Given the description of an element on the screen output the (x, y) to click on. 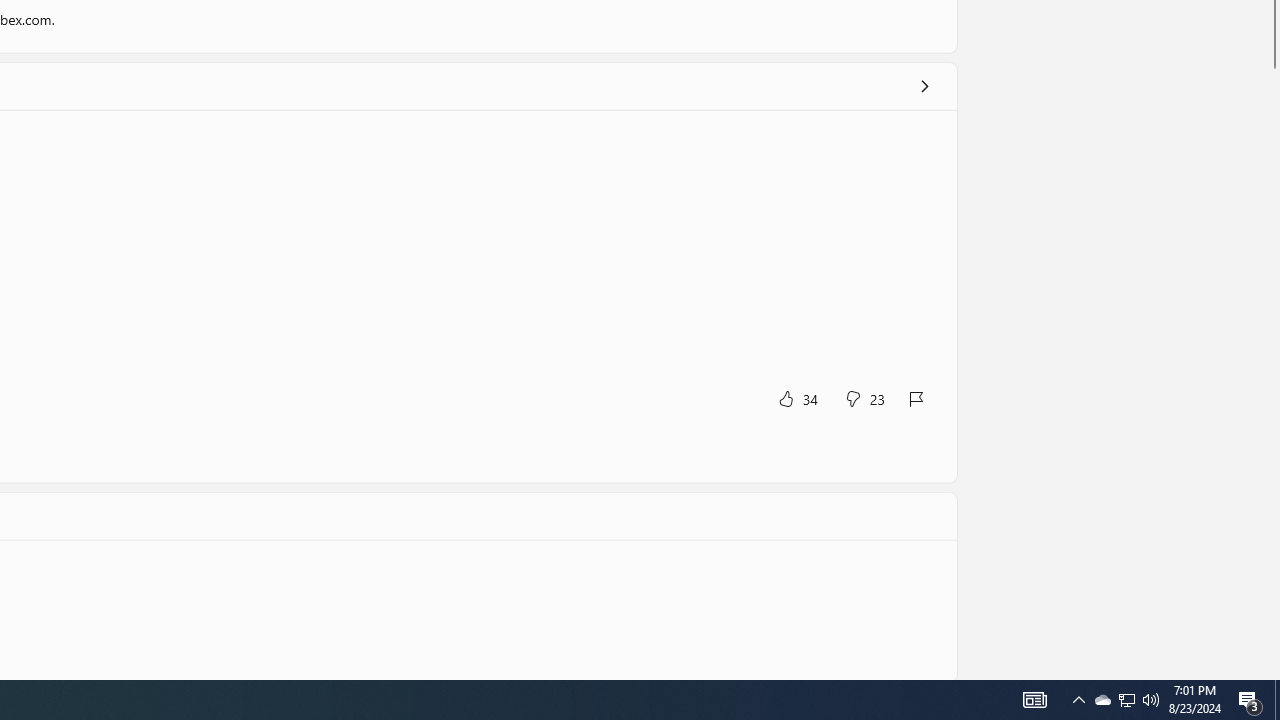
Report review (917, 398)
Show all ratings and reviews (924, 85)
Vertical Small Increase (1272, 672)
No, this was not helpful. 23 votes. (864, 398)
Yes, this was helpful. 34 votes. (797, 398)
Vertical Large Increase (1272, 369)
